Given the description of an element on the screen output the (x, y) to click on. 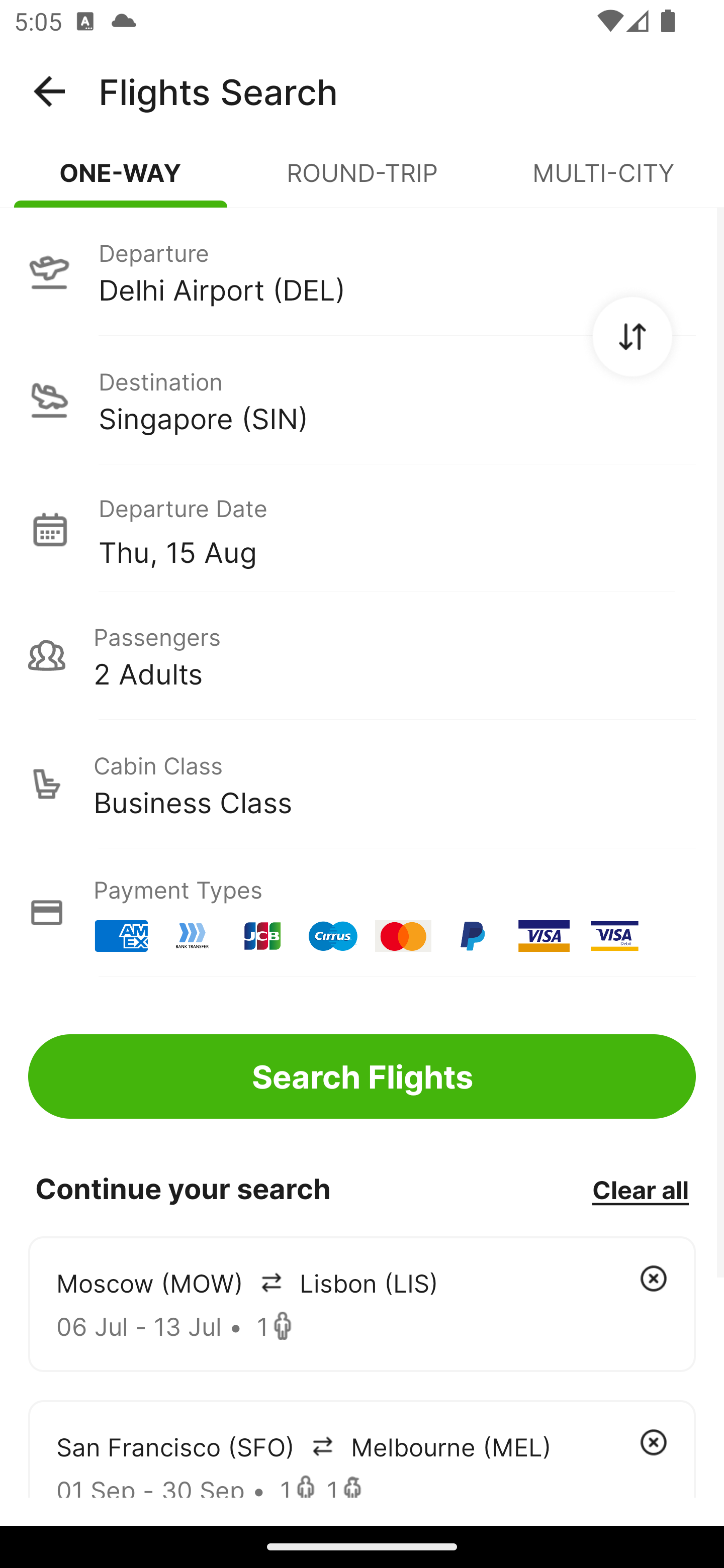
ONE-WAY (120, 180)
ROUND-TRIP (361, 180)
MULTI-CITY (603, 180)
Departure Delhi Airport (DEL) (362, 270)
Destination Singapore (SIN) (362, 400)
Departure Date Thu, 15 Aug (396, 528)
Passengers 2 Adults (362, 655)
Cabin Class Business Class (362, 783)
Payment Types (362, 912)
Search Flights (361, 1075)
Clear all (640, 1189)
